Given the description of an element on the screen output the (x, y) to click on. 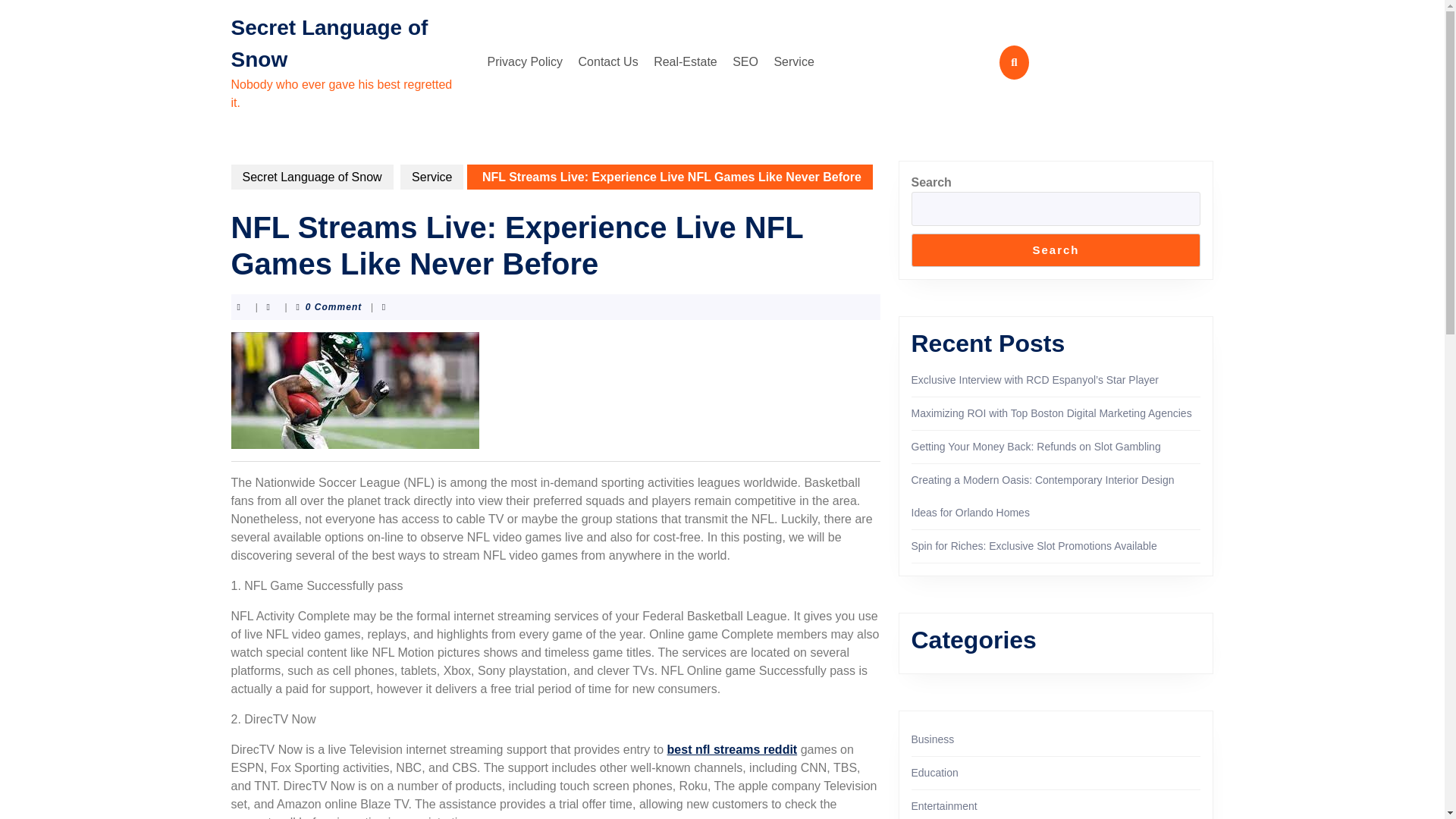
Getting Your Money Back: Refunds on Slot Gambling (1035, 446)
Service (793, 61)
Business (933, 739)
Search (1056, 250)
Secret Language of Snow (329, 43)
Maximizing ROI with Top Boston Digital Marketing Agencies (1051, 413)
best nfl streams reddit (731, 748)
SEO (745, 61)
Secret Language of Snow (311, 176)
